Given the description of an element on the screen output the (x, y) to click on. 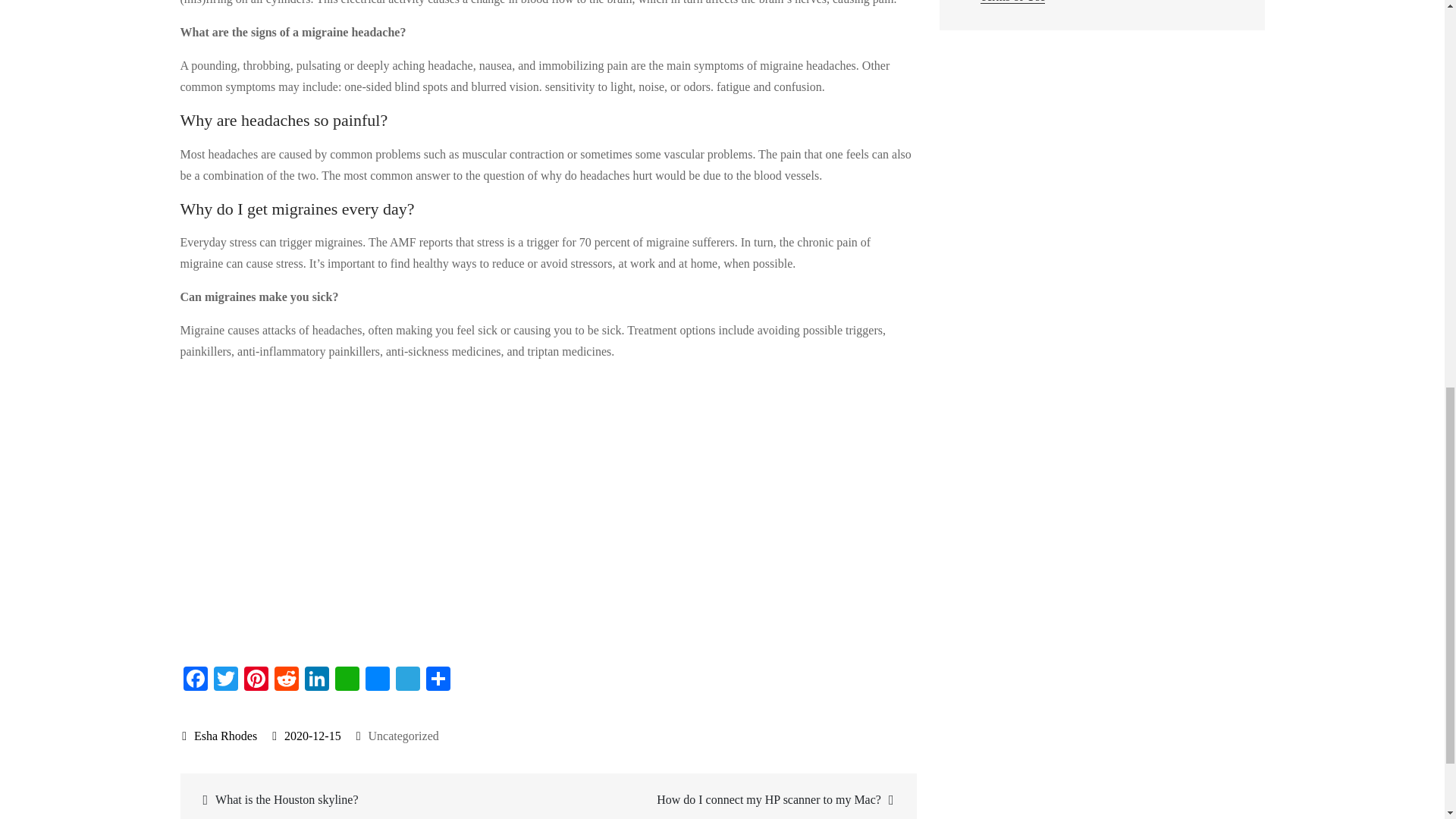
WhatsApp (346, 680)
Terms of Use (1012, 2)
Telegram (408, 680)
2020-12-15 (306, 735)
Twitter (226, 680)
Esha Rhodes (219, 735)
How do I connect my HP scanner to my Mac? (730, 799)
Reddit (285, 680)
The difference between a migraine and headaches (422, 510)
WhatsApp (346, 680)
Twitter (226, 680)
Pinterest (255, 680)
LinkedIn (316, 680)
LinkedIn (316, 680)
Reddit (285, 680)
